Given the description of an element on the screen output the (x, y) to click on. 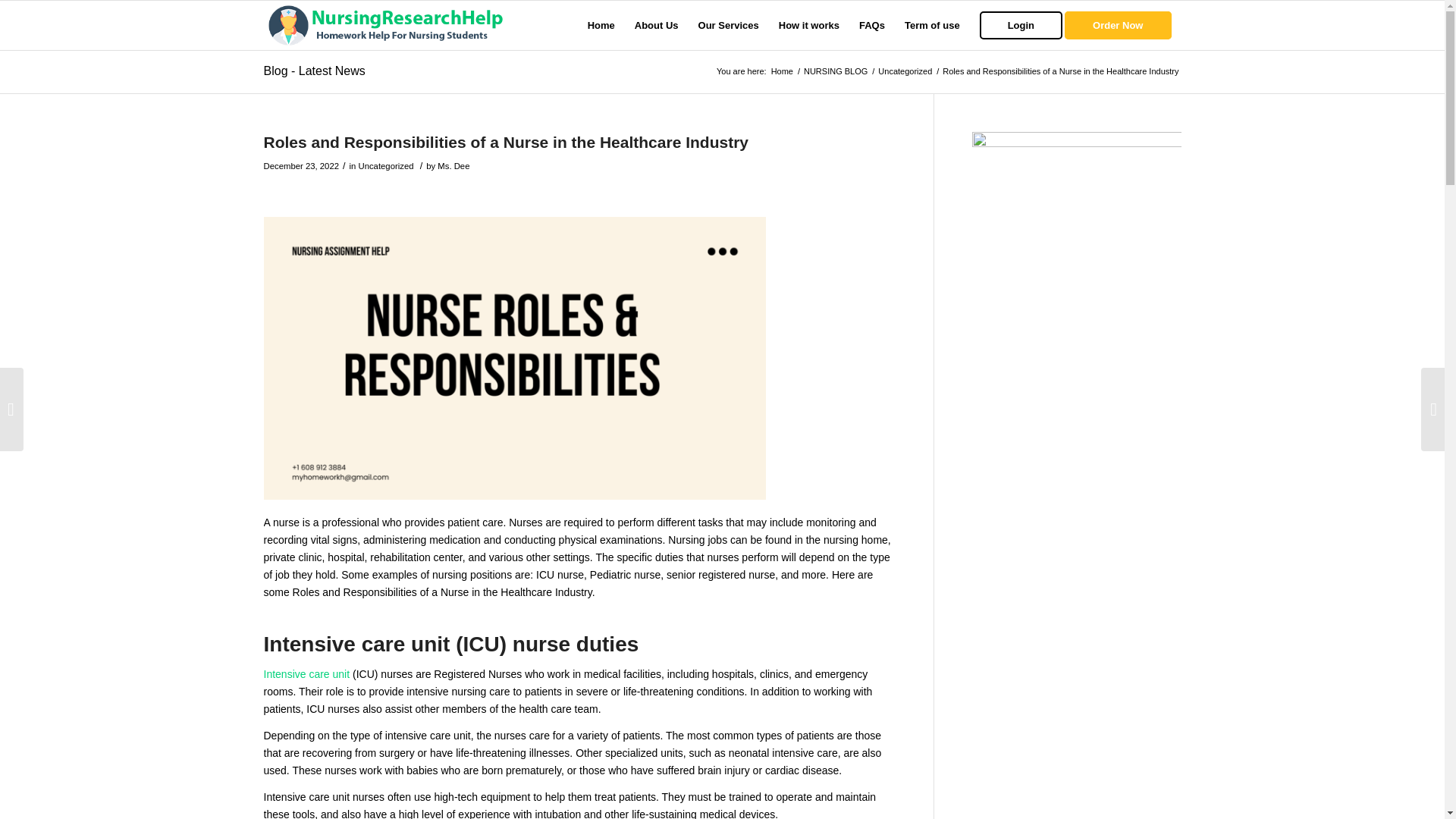
Our Services (728, 24)
About Us (656, 24)
Uncategorized (905, 71)
Login (1020, 24)
FAQs (871, 24)
nrhlogo (387, 24)
Ms. Dee (453, 165)
Term of use (932, 24)
Uncategorized (385, 165)
NURSING BLOG (835, 71)
